Given the description of an element on the screen output the (x, y) to click on. 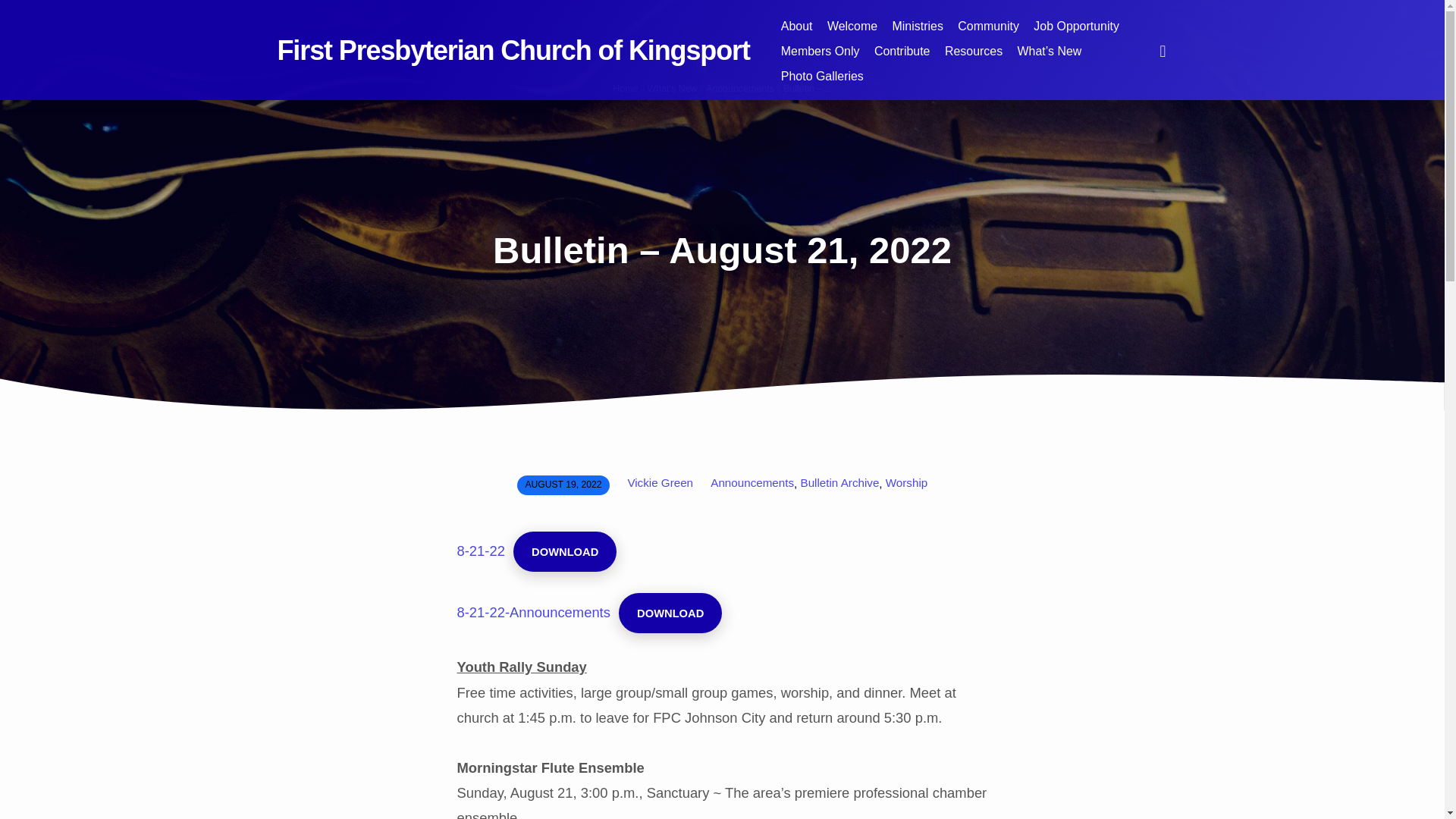
About (796, 33)
Ministries (917, 33)
Welcome (852, 33)
First Presbyterian Church of Kingsport (513, 50)
